Given the description of an element on the screen output the (x, y) to click on. 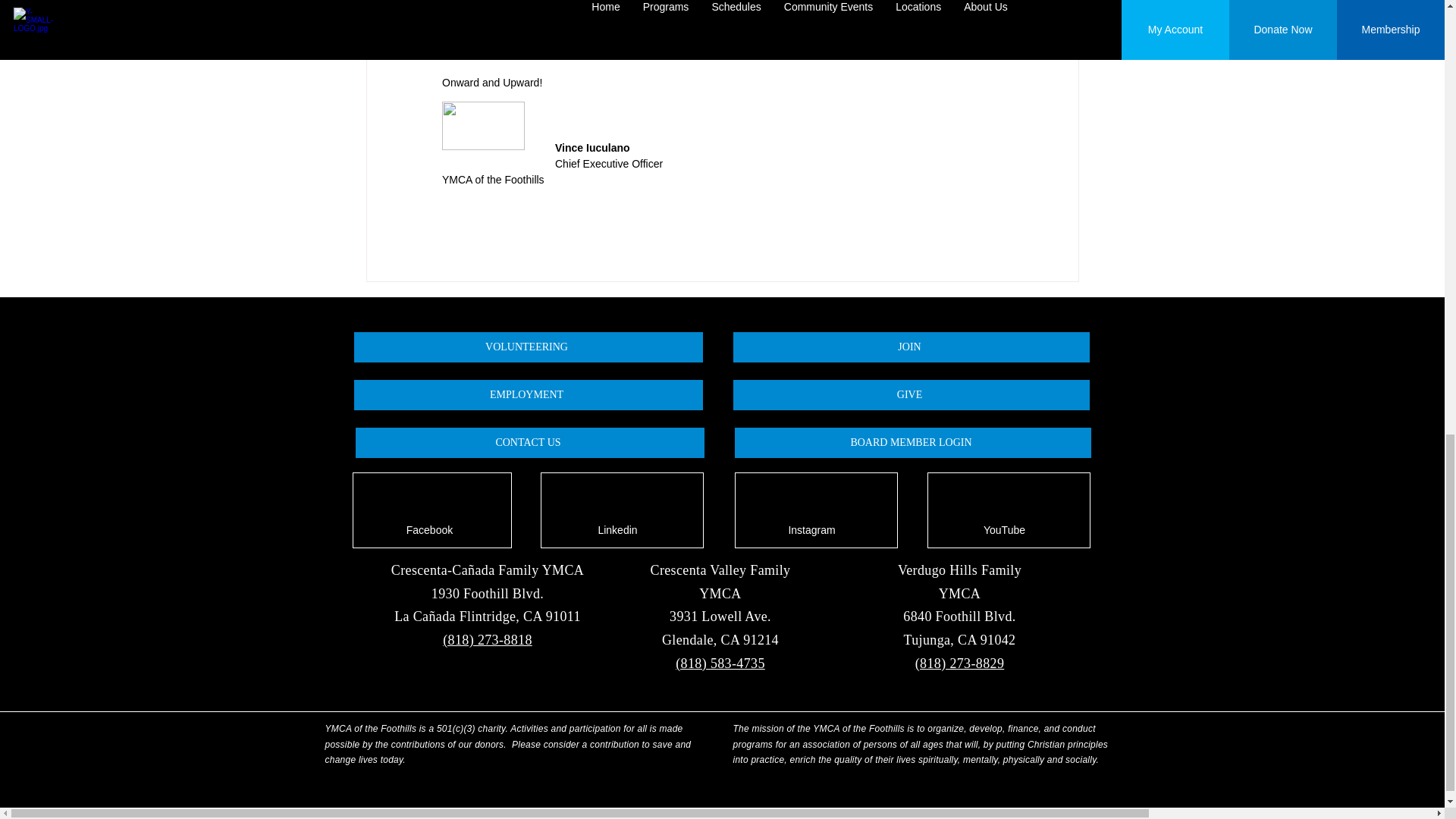
EMPLOYMENT (527, 395)
VOLUNTEERING (527, 347)
